Given the description of an element on the screen output the (x, y) to click on. 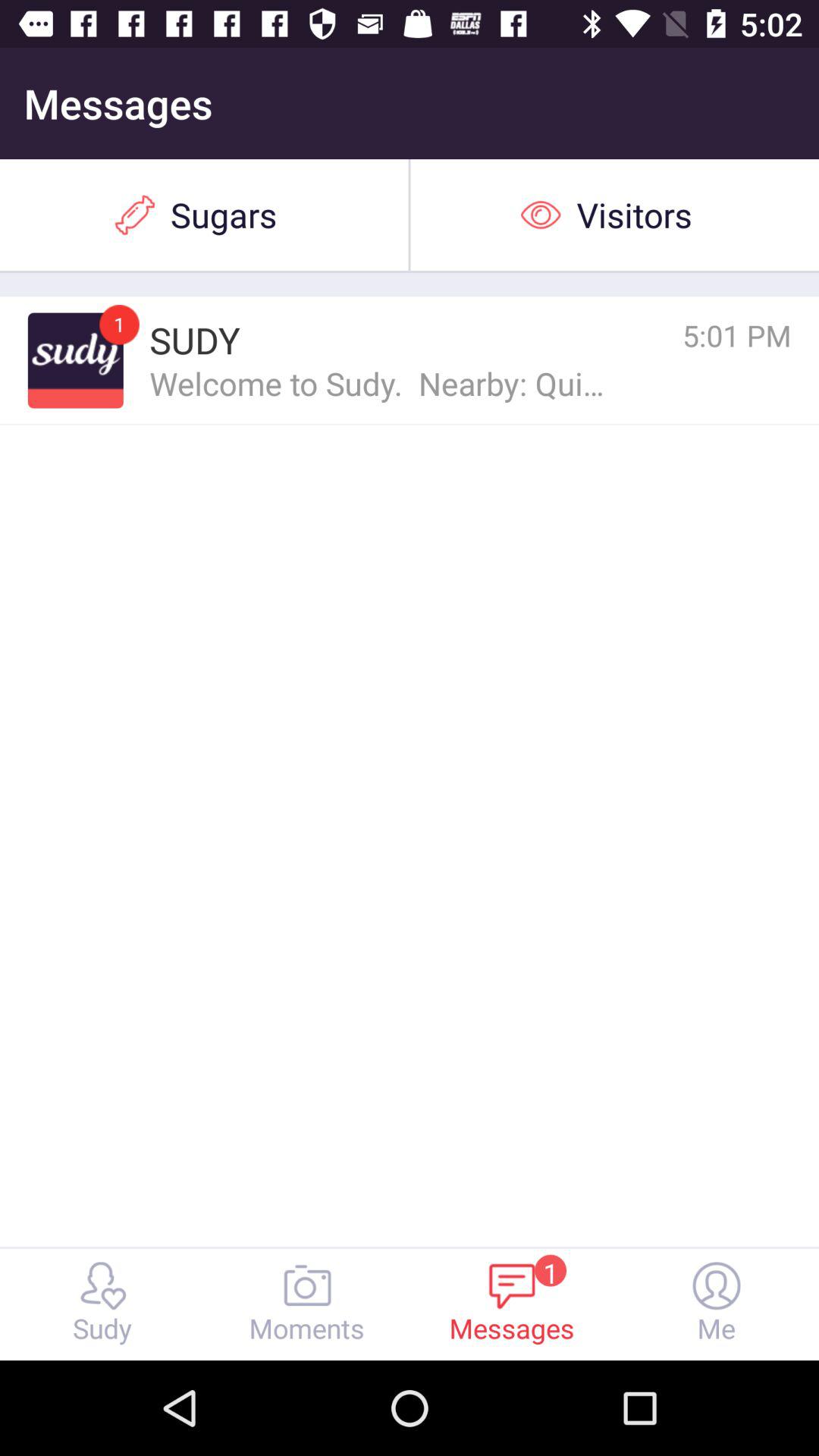
open the welcome to sudy (379, 381)
